Given the description of an element on the screen output the (x, y) to click on. 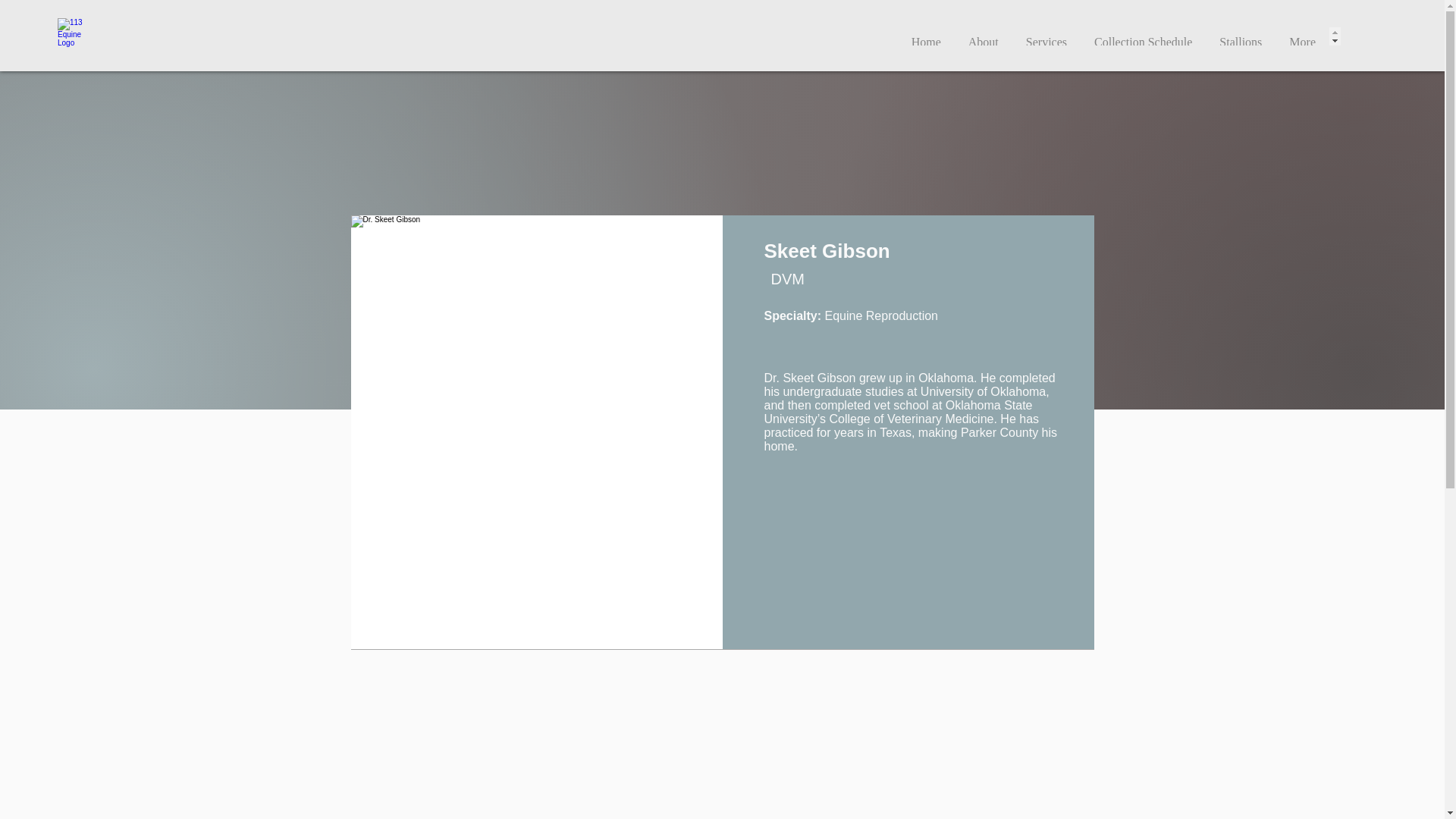
Collection Schedule (1142, 36)
Home (926, 36)
Stallions (1240, 36)
About (983, 36)
Services (1045, 36)
